Given the description of an element on the screen output the (x, y) to click on. 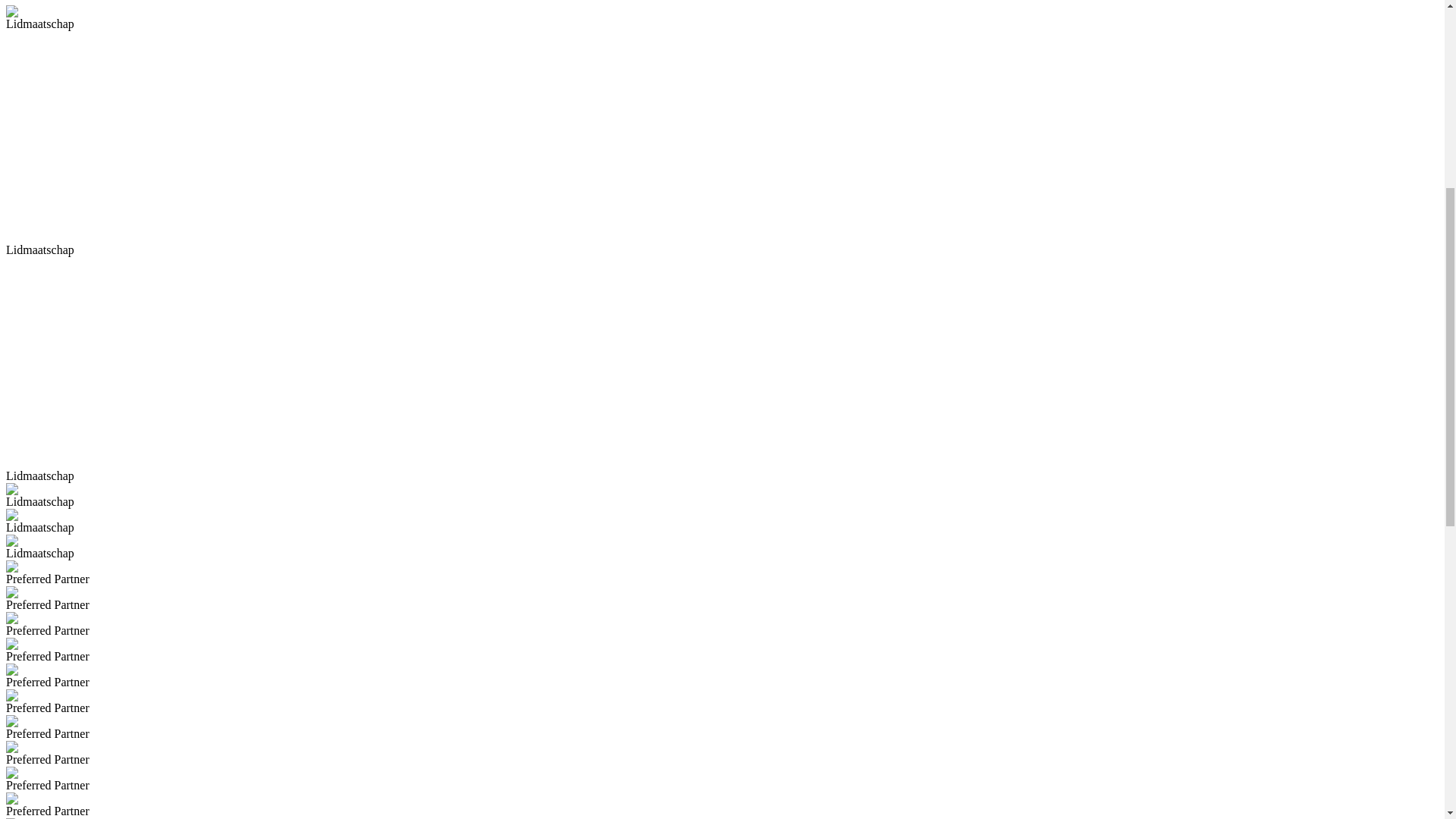
Ons Team Element type: text (95, 297)
Brilliant Ideas Element type: text (157, 297)
Zoeken op Thema Element type: text (50, 166)
Over Atlas reizen Element type: text (78, 37)
Art Travel Element type: text (219, 297)
Voorbeeldreizen Element type: text (76, 119)
Zoeken op Bestemming Element type: text (94, 92)
Blog Element type: text (47, 51)
Atlas Reizen Element type: text (37, 297)
info@atlasreizen.be Element type: text (164, 180)
Voorbeeldreizen Element type: text (426, 166)
Duurzaamheid Element type: text (328, 297)
Zoeken op Bestemming Element type: text (180, 166)
Netwerk Element type: text (268, 297)
Contact Element type: text (55, 65)
Zoeken op Periode Element type: text (82, 106)
Zoeken op Periode Element type: text (312, 166)
Zoeken op Thema Element type: text (80, 78)
